Given the description of an element on the screen output the (x, y) to click on. 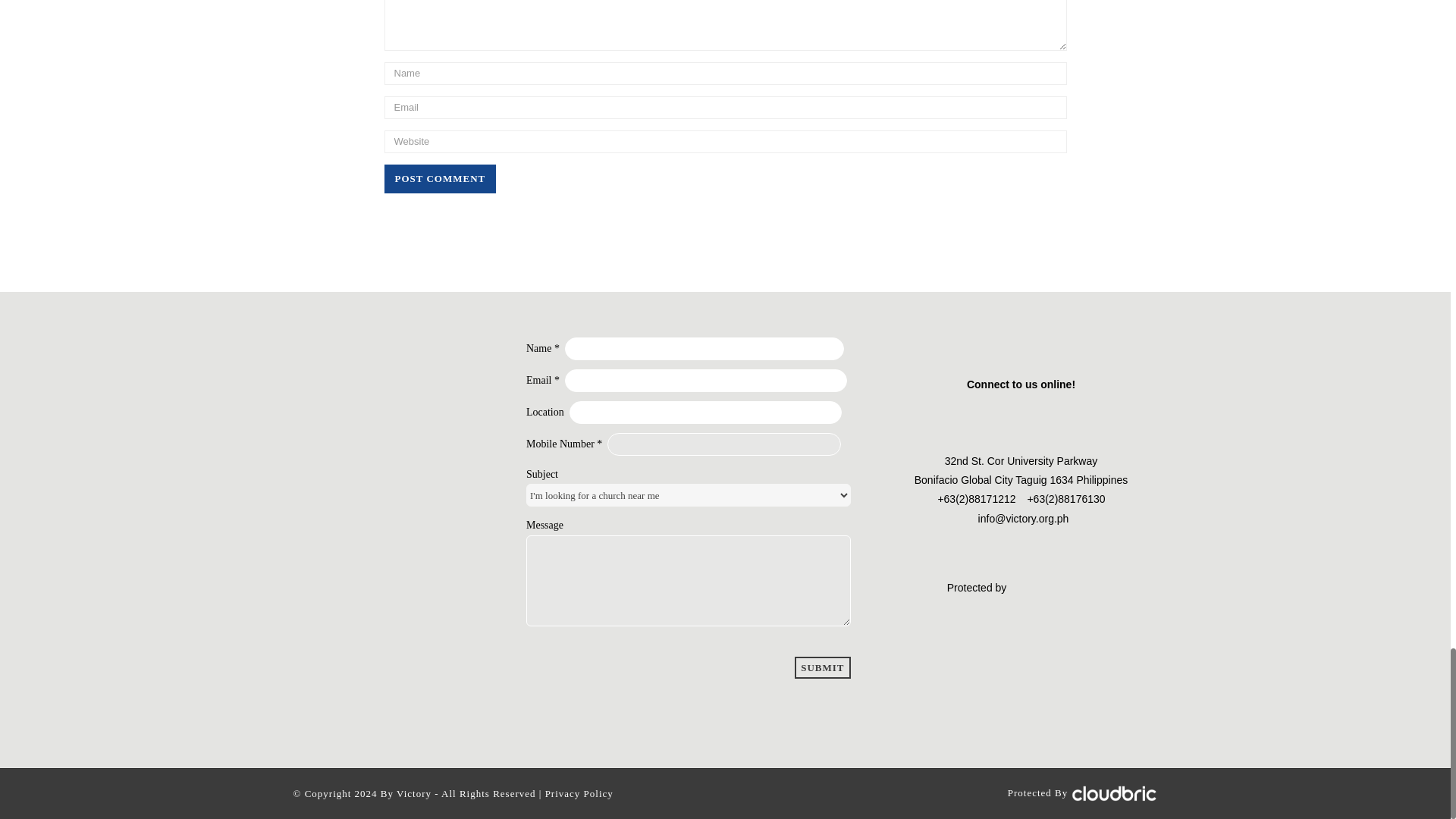
Submit (822, 667)
POST COMMENT (440, 178)
Submit (822, 667)
